Given the description of an element on the screen output the (x, y) to click on. 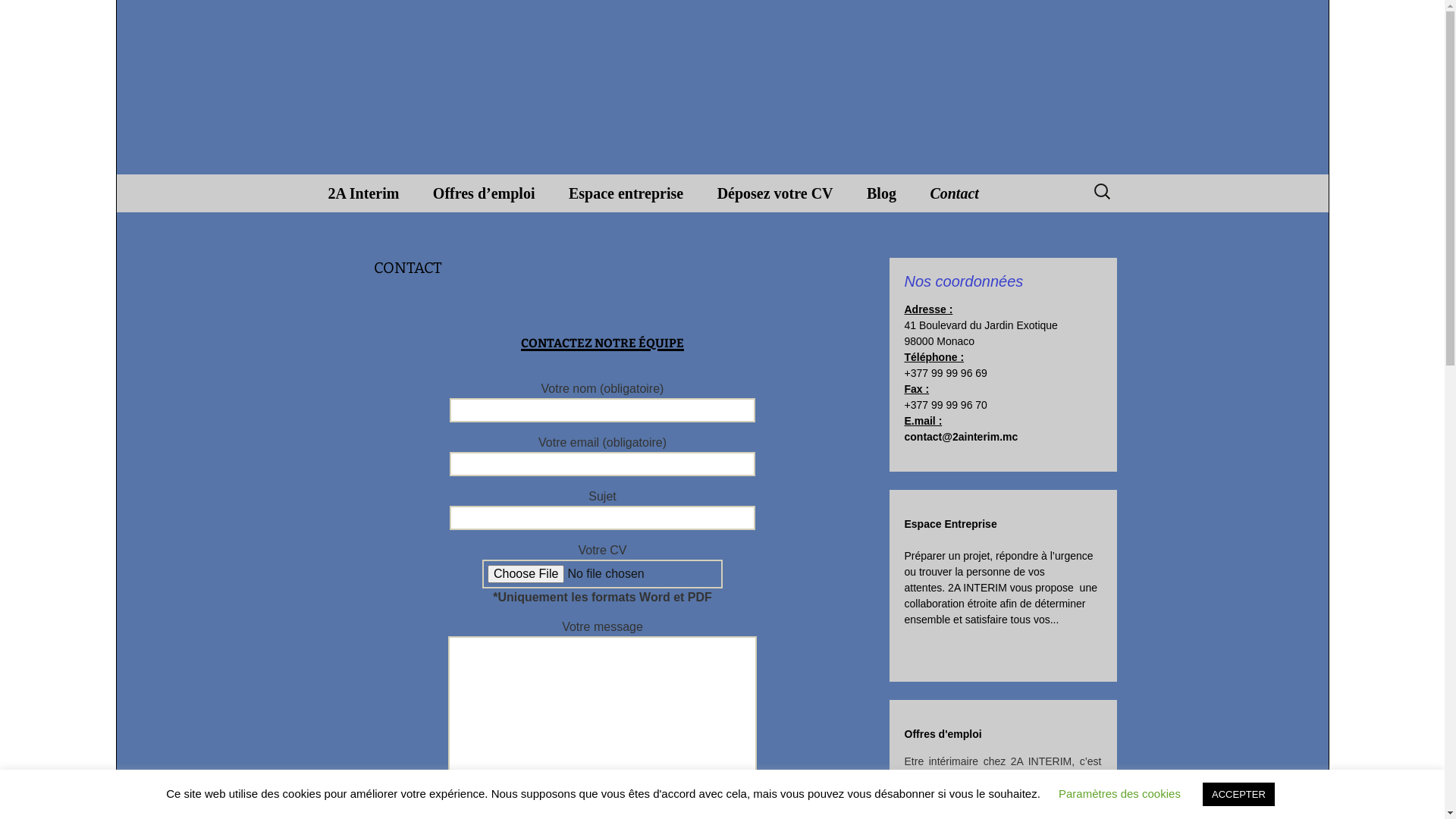
2A INTERIM Element type: text (721, 87)
Offres d'emploi Element type: text (942, 734)
2A Interim Element type: text (363, 193)
contact@2ainterim.mc Element type: text (960, 436)
Espace Entreprise Element type: text (949, 523)
Tertiaire Element type: text (493, 231)
Aller au contenu Element type: text (312, 174)
Contact Element type: text (953, 193)
Blog Element type: text (881, 193)
Rechercher Element type: text (45, 15)
ACCEPTER Element type: text (1238, 794)
Rechercher Element type: text (18, 15)
Espace entreprise Element type: text (625, 193)
